Given the description of an element on the screen output the (x, y) to click on. 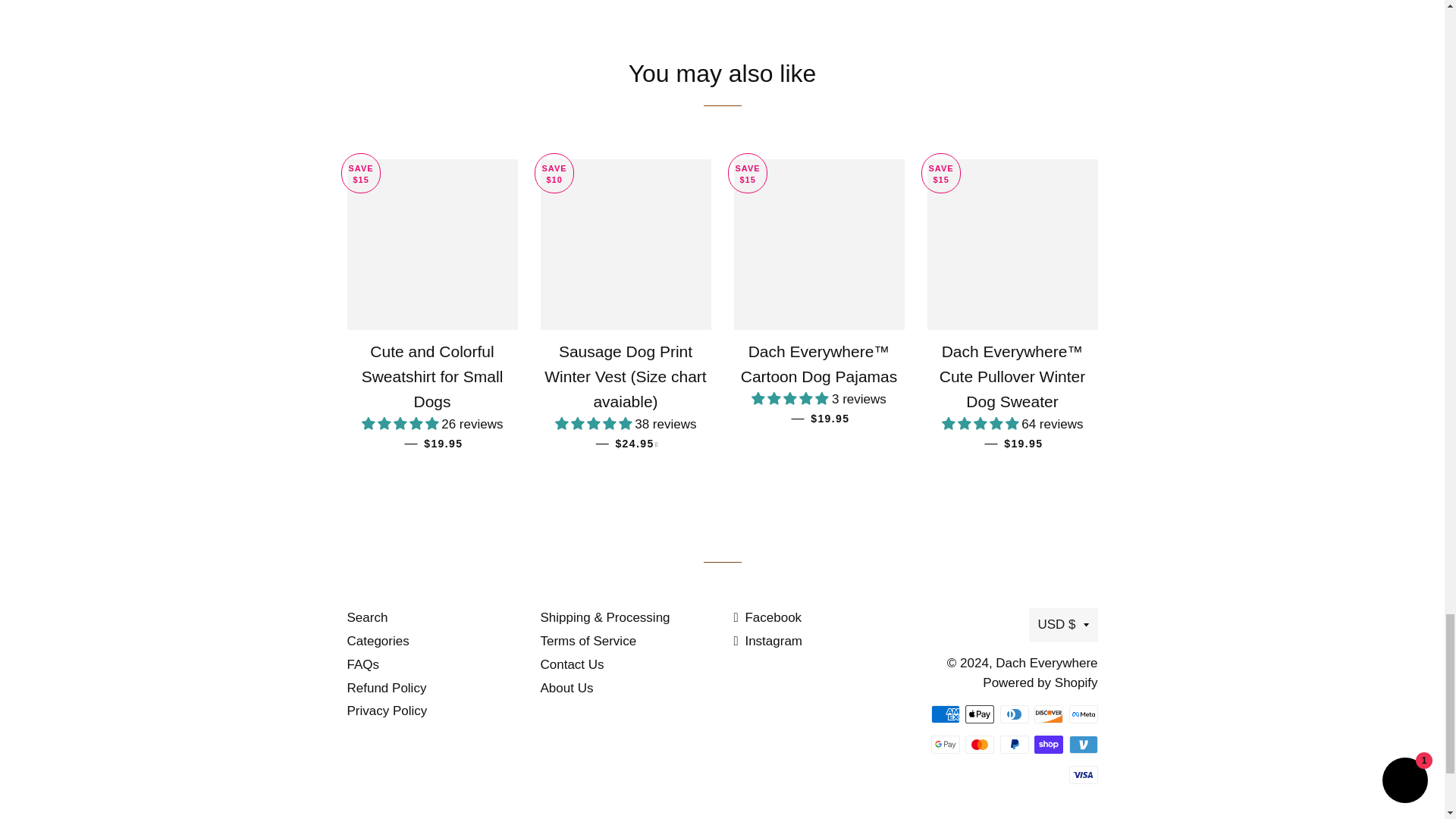
Apple Pay (979, 714)
Mastercard (979, 744)
Meta Pay (1082, 714)
Google Pay (945, 744)
Shop Pay (1047, 744)
Discover (1047, 714)
Visa (1082, 774)
American Express (945, 714)
Dach Everywhere on Facebook (767, 617)
Dach Everywhere on Instagram (768, 640)
PayPal (1012, 744)
Diners Club (1012, 714)
Venmo (1082, 744)
